Given the description of an element on the screen output the (x, y) to click on. 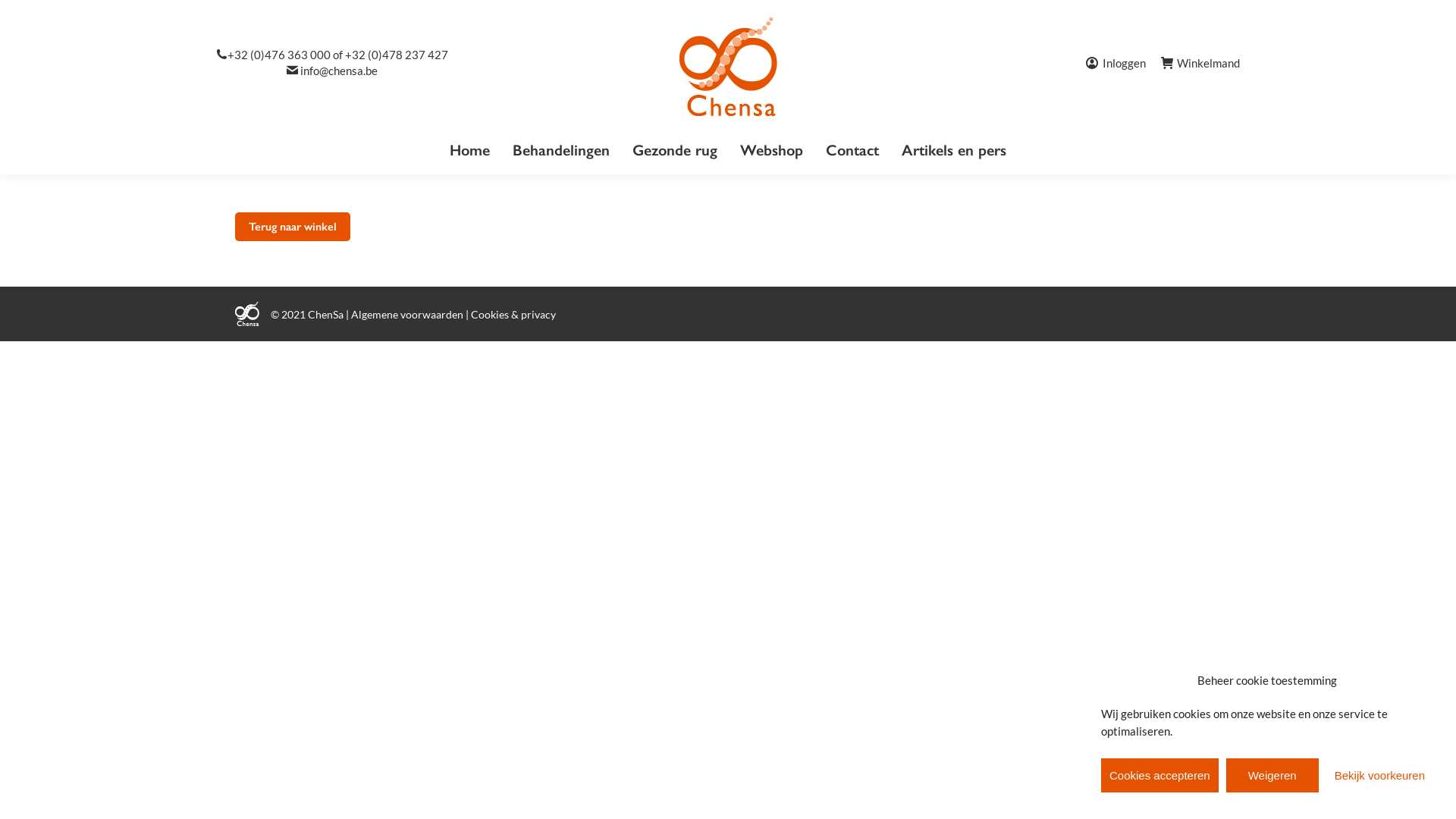
info@chensa.be Element type: text (338, 70)
Home Element type: text (469, 150)
Contact Element type: text (851, 150)
+32 (0)476 363 000 Element type: text (278, 54)
Cookies Element type: text (489, 313)
Behandelingen Element type: text (560, 150)
Weigeren Element type: text (1272, 775)
Webshop Element type: text (771, 150)
Terug naar winkel Element type: text (292, 226)
Winkelmand Element type: text (1200, 62)
privacy Element type: text (537, 313)
Artikels en pers Element type: text (953, 150)
+32 (0)478 237 427 Element type: text (396, 54)
Algemene voorwaarden Element type: text (407, 313)
Cookies accepteren Element type: text (1159, 775)
Bekijk voorkeuren Element type: text (1379, 775)
Inloggen Element type: text (1115, 63)
Gezonde rug Element type: text (674, 150)
